Given the description of an element on the screen output the (x, y) to click on. 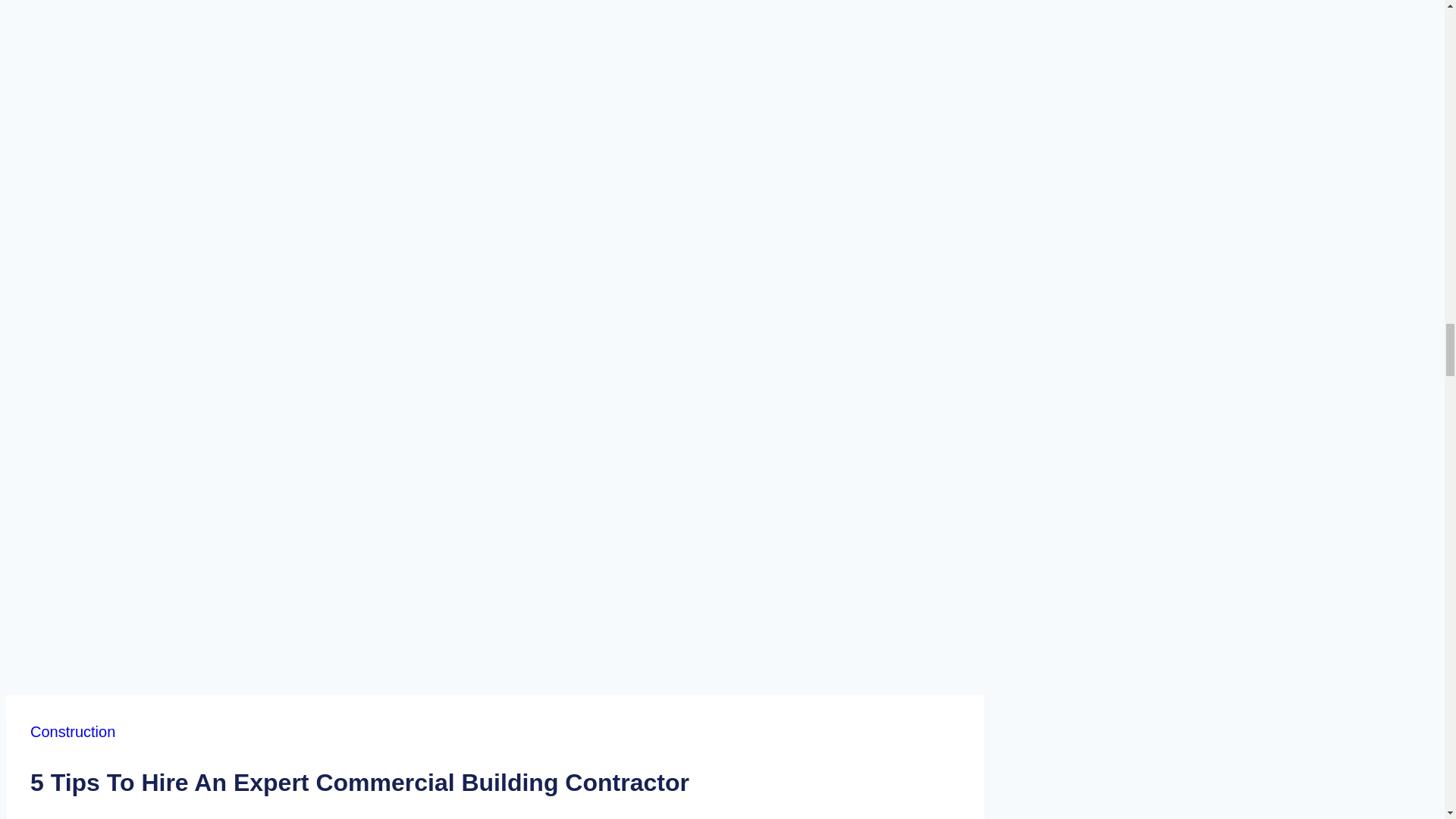
Construction (72, 731)
